Given the description of an element on the screen output the (x, y) to click on. 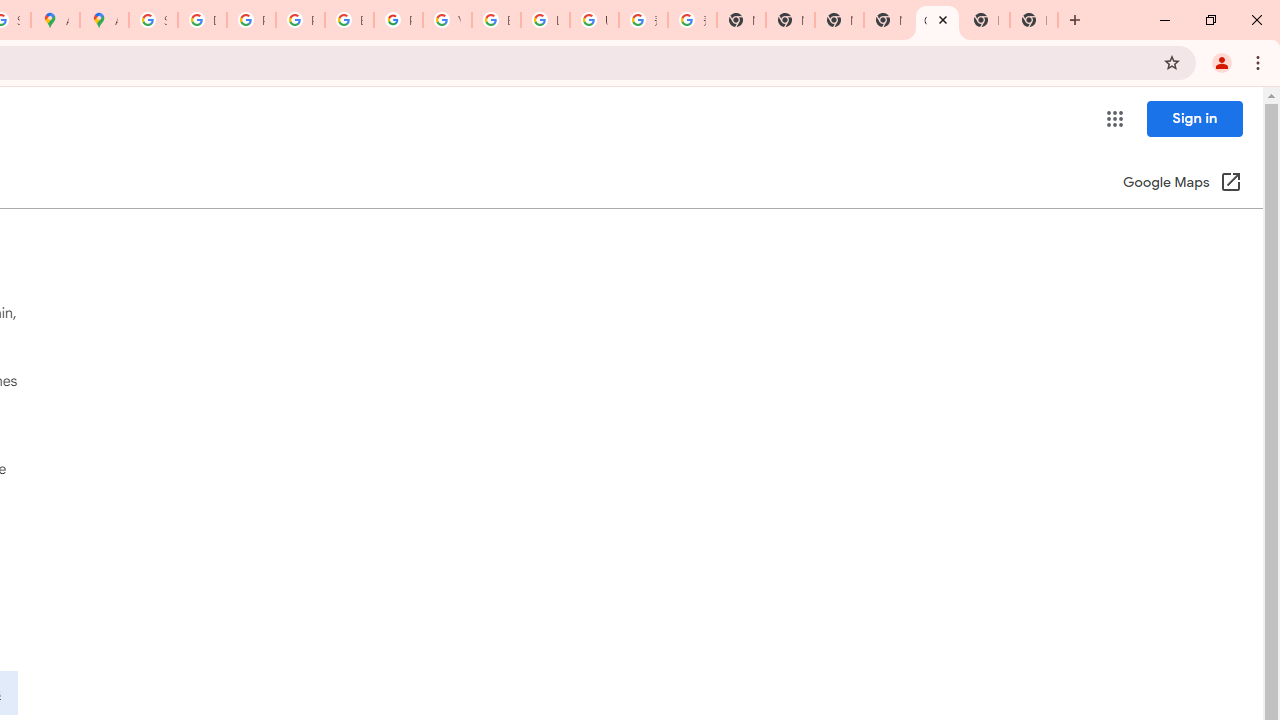
Sign in - Google Accounts (153, 20)
Privacy Help Center - Policies Help (251, 20)
Browse Chrome as a guest - Computer - Google Chrome Help (496, 20)
Crisis-related alerts in Google Maps - Google Maps Help (937, 20)
Google Maps (Open in a new window) (1182, 183)
